Given the description of an element on the screen output the (x, y) to click on. 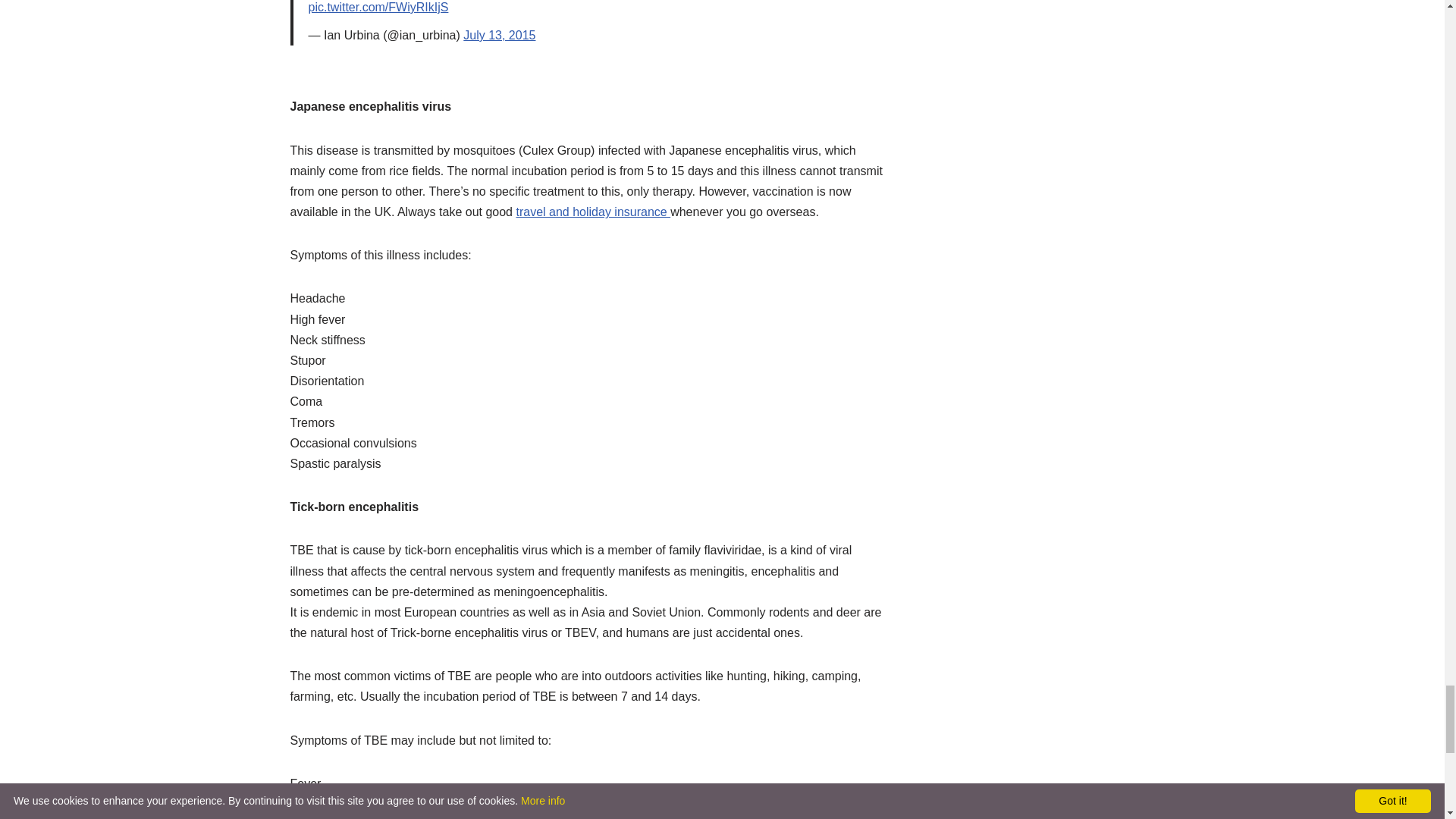
July 13, 2015 (499, 34)
travel and holiday insurance (592, 211)
